Given the description of an element on the screen output the (x, y) to click on. 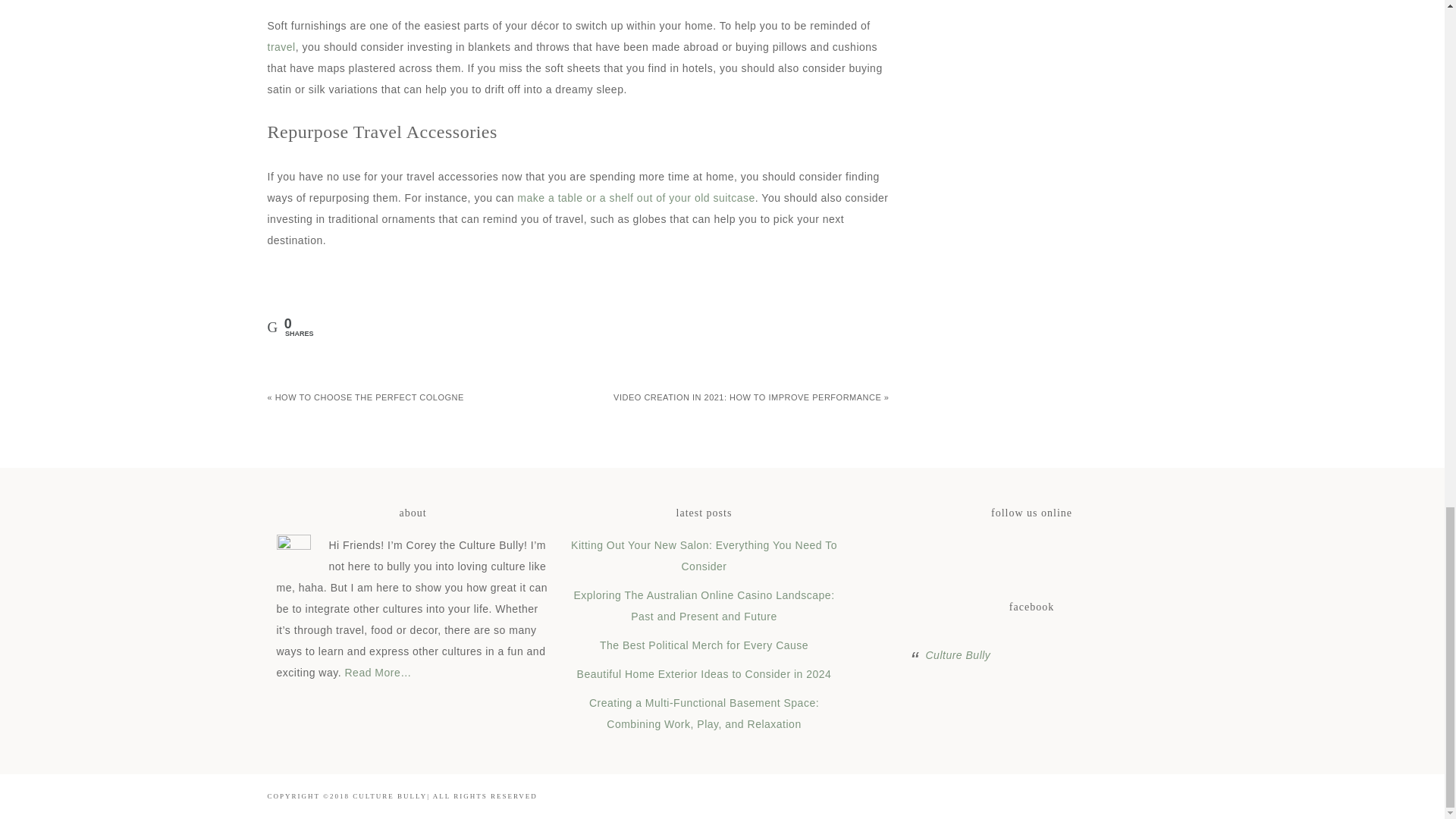
Kitting Out Your New Salon: Everything You Need To Consider (703, 555)
make a table or a shelf out of your old suitcase (635, 197)
Beautiful Home Exterior Ideas to Consider in 2024 (703, 674)
The Best Political Merch for Every Cause (703, 645)
travel (280, 46)
Culture Bully (957, 654)
